Given the description of an element on the screen output the (x, y) to click on. 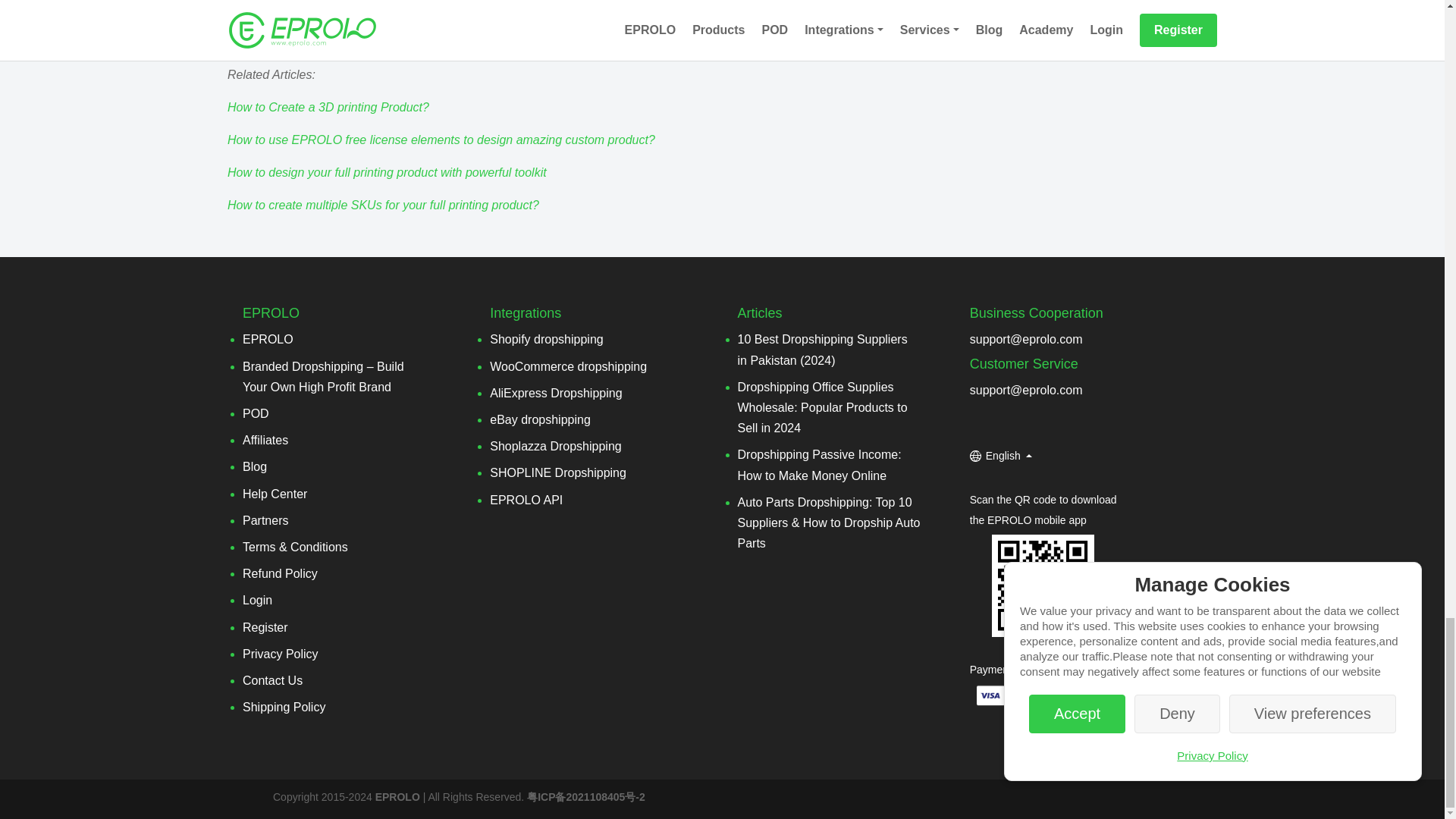
How to Create a 3D printing Product? (328, 106)
EPROLO (268, 338)
Help Center (275, 493)
Refund Policy (280, 573)
How to create multiple SKUs for your full printing product? (382, 205)
Partners (265, 520)
POD (256, 413)
Blog (254, 466)
Affiliates (265, 440)
